Given the description of an element on the screen output the (x, y) to click on. 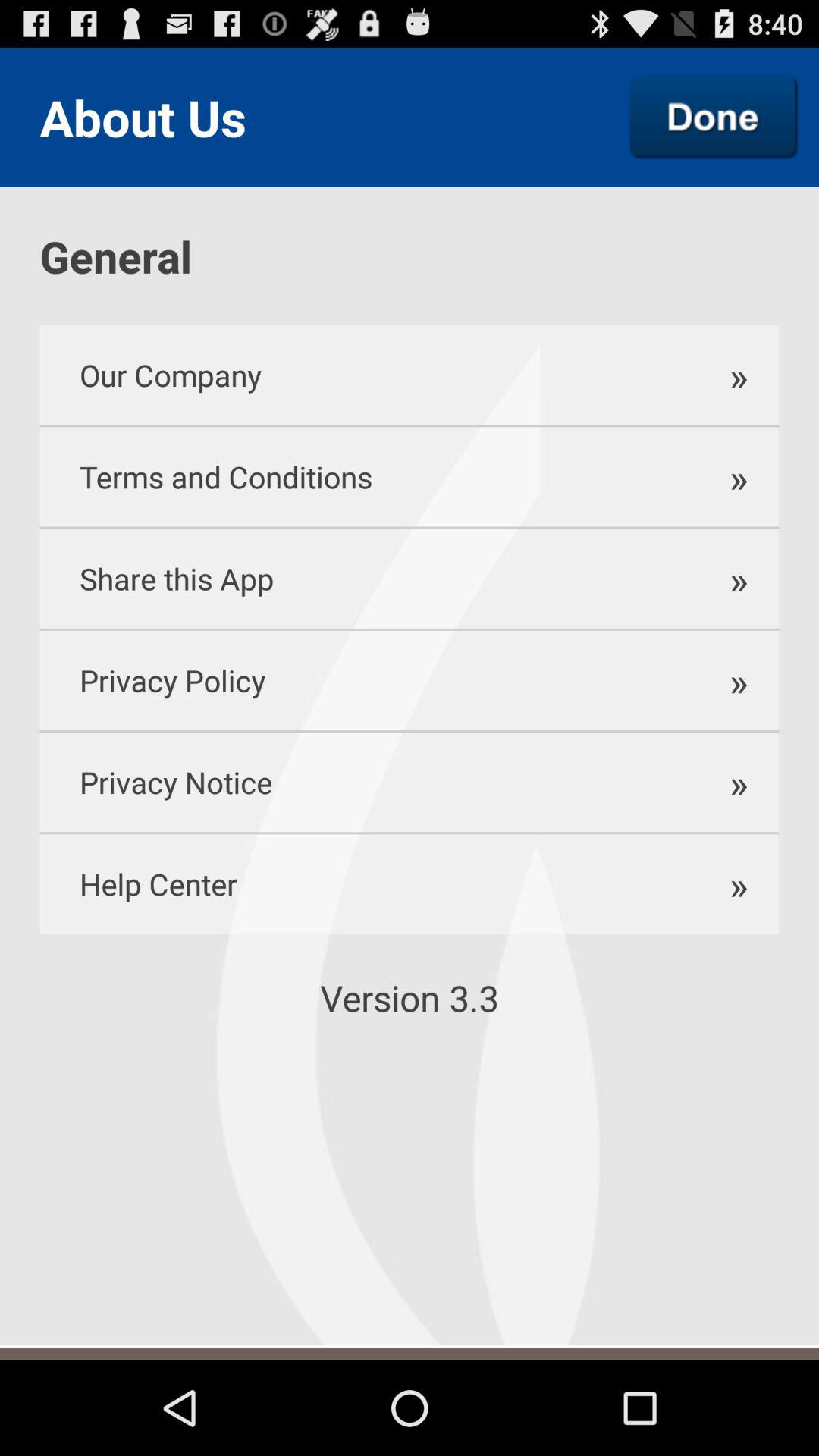
click on privacy notice (361, 781)
